Given the description of an element on the screen output the (x, y) to click on. 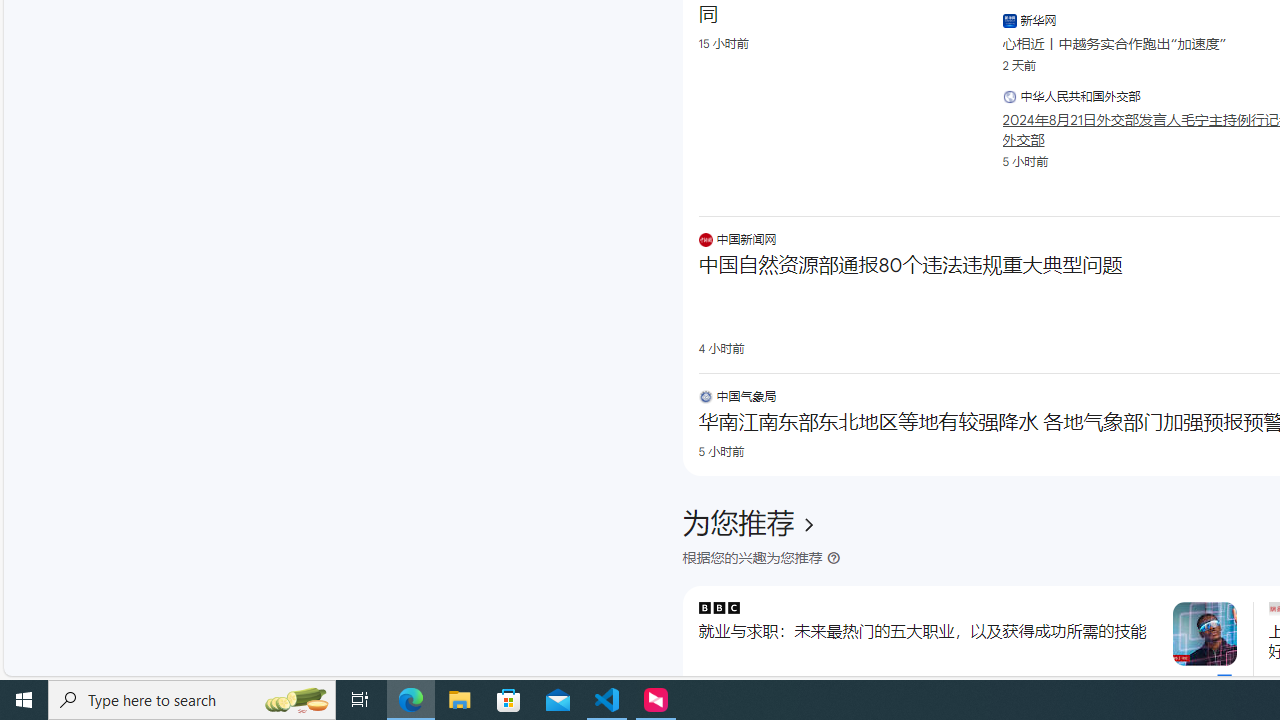
Class: YMQYob NMm5M hhikbc (808, 524)
